Given the description of an element on the screen output the (x, y) to click on. 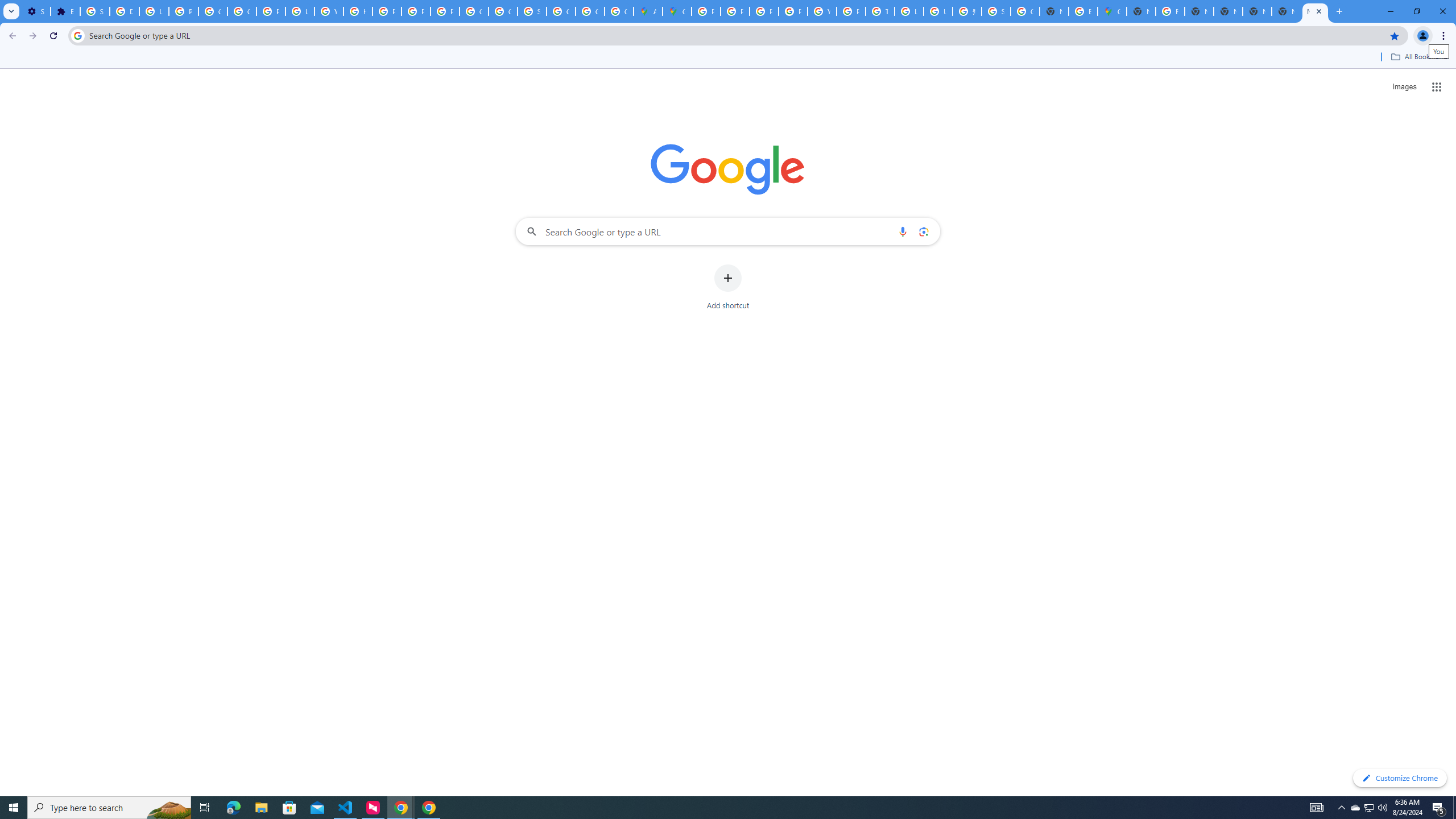
YouTube (821, 11)
YouTube (327, 11)
Sign in - Google Accounts (531, 11)
Google Maps (677, 11)
Tips & tricks for Chrome - Google Chrome Help (879, 11)
Settings - On startup (35, 11)
